Given the description of an element on the screen output the (x, y) to click on. 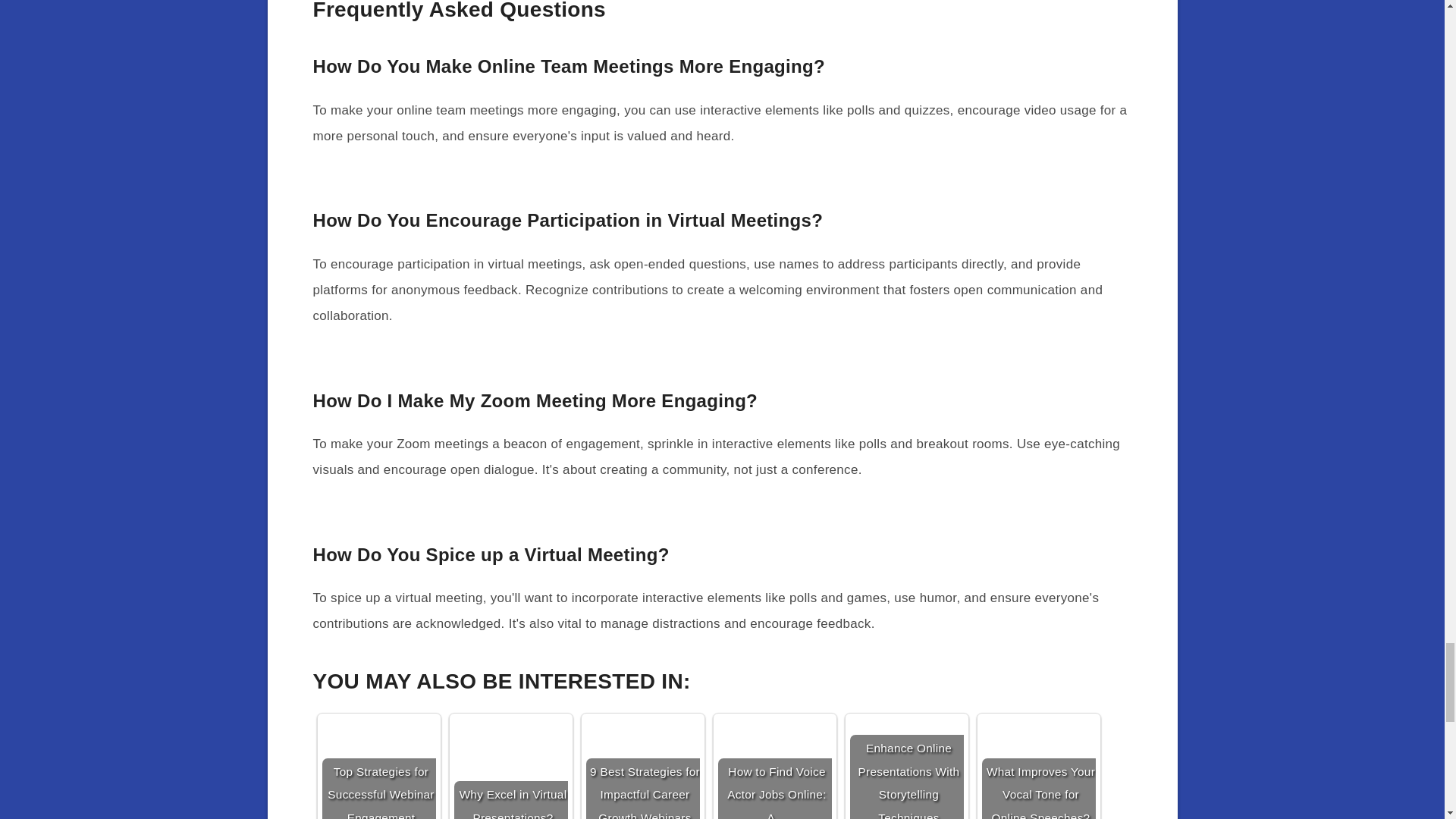
9 Best Strategies for Impactful Career Growth Webinars (641, 768)
What Improves Your Vocal Tone for Online Speeches? (1037, 768)
Enhance Online Presentations With Storytelling Techniques (905, 768)
Why Excel in Virtual Presentations? (509, 768)
Top Strategies for Successful Webinar Engagement (378, 768)
